Given the description of an element on the screen output the (x, y) to click on. 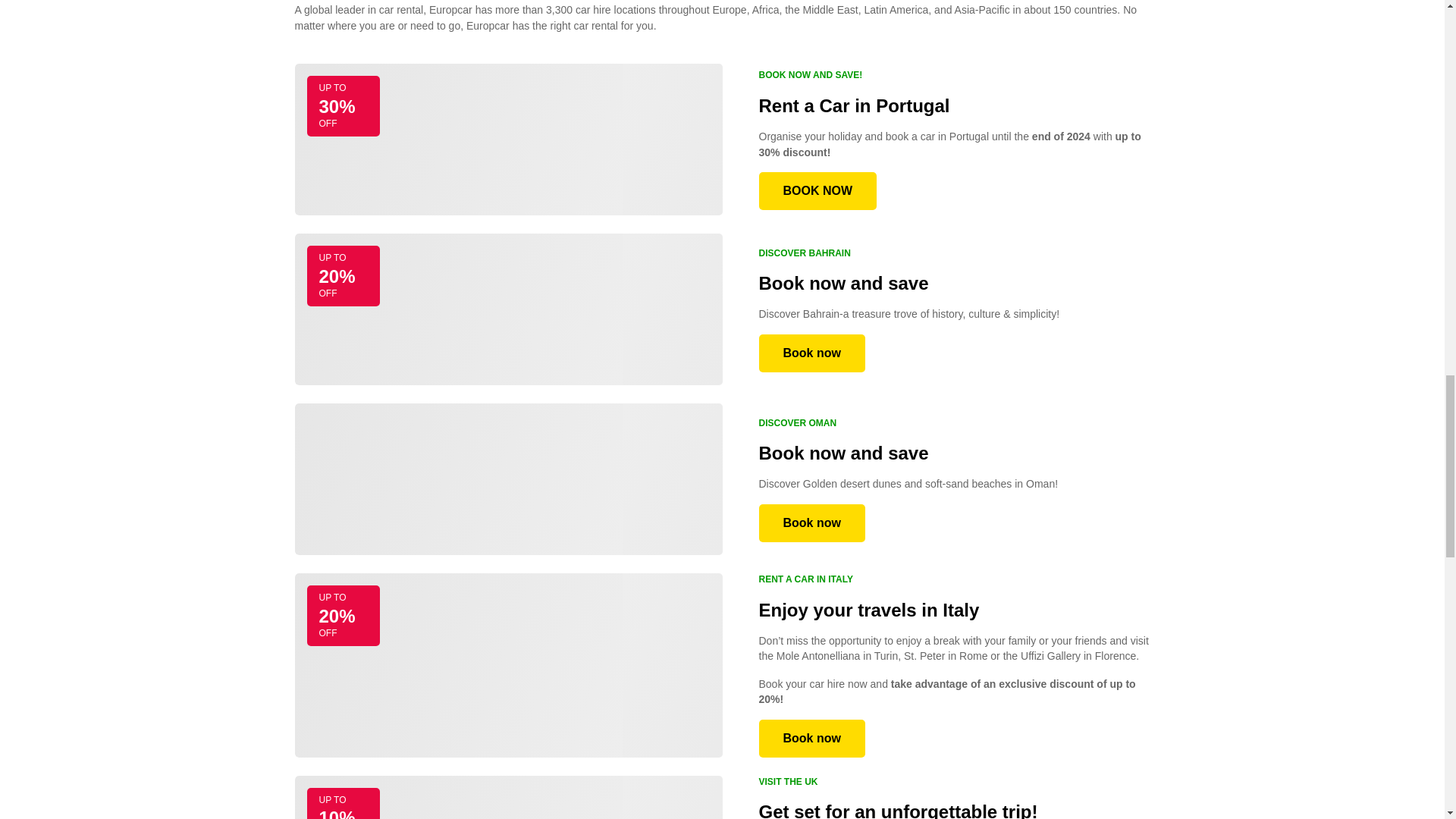
BOOK NOW (817, 190)
Book now (811, 738)
Book now (811, 523)
Book now (811, 353)
